Given the description of an element on the screen output the (x, y) to click on. 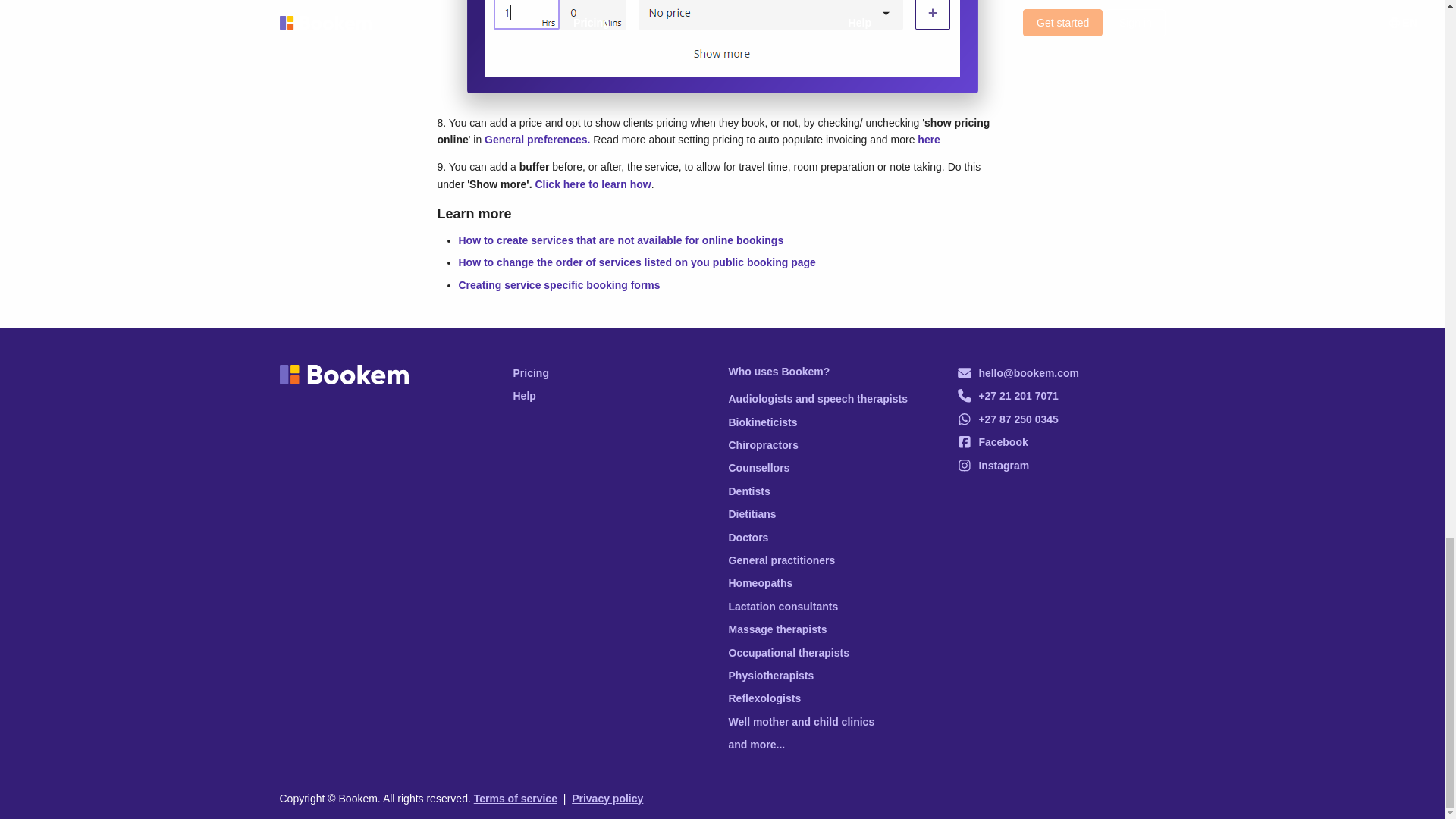
General practitioners (829, 560)
Counsellors (829, 467)
Lactation consultants (829, 606)
Bookem logo (343, 374)
Doctors (829, 537)
General preferences. (538, 139)
here (928, 139)
Help (614, 395)
Chiropractors (829, 444)
Homeopaths (829, 582)
Creating service specific booking forms (558, 285)
Click here to learn how (592, 184)
Massage therapists (829, 629)
